Given the description of an element on the screen output the (x, y) to click on. 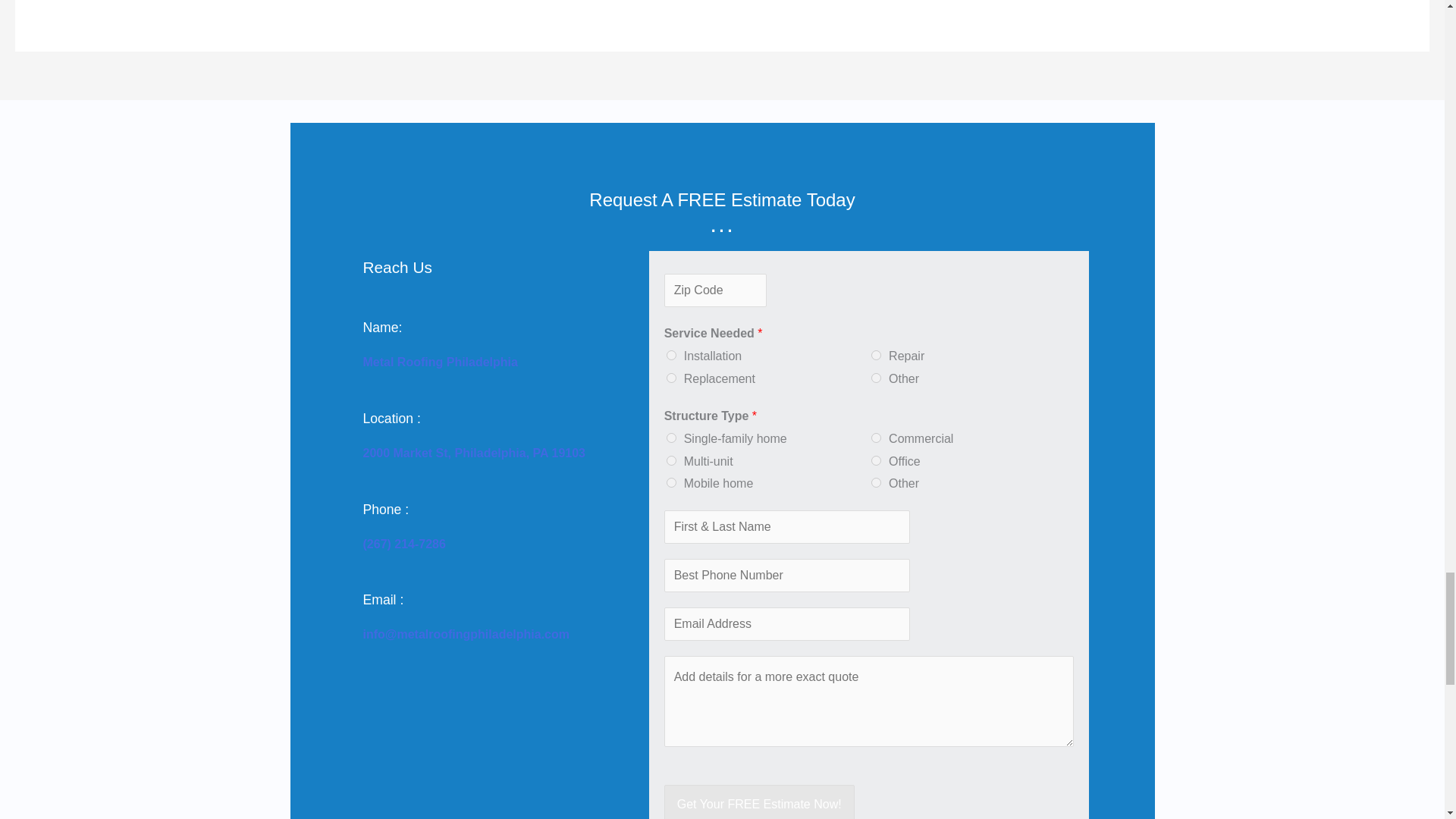
Office (875, 460)
Mobile home (671, 482)
Repair (875, 355)
Single-family home (671, 438)
Replacement (671, 378)
Commercial (875, 438)
Other (875, 482)
Other (875, 378)
Multi-unit (671, 460)
Installation (671, 355)
